Given the description of an element on the screen output the (x, y) to click on. 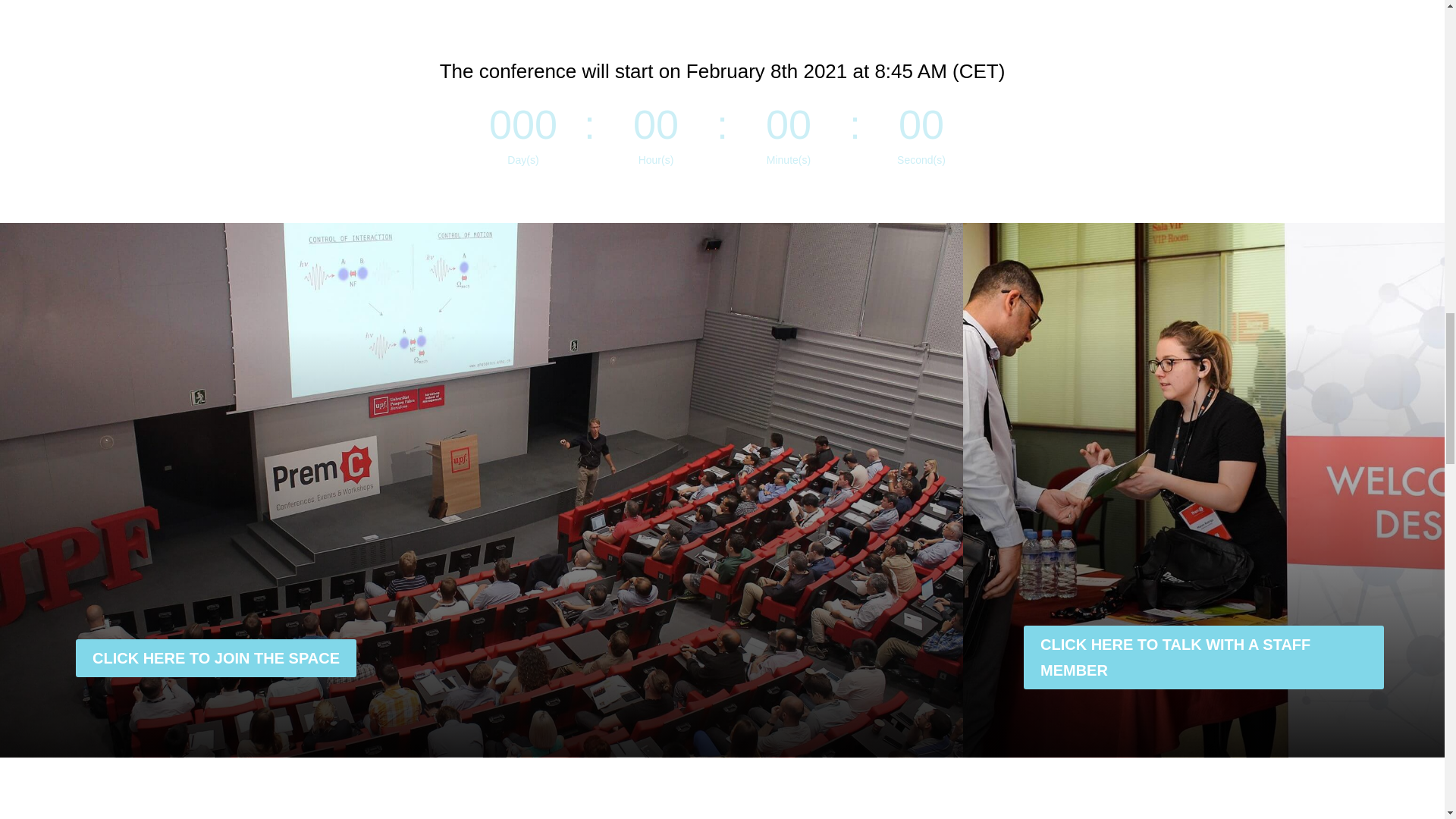
CLICK HERE TO JOIN THE SPACE (215, 658)
CLICK HERE TO TALK WITH A STAFF MEMBER (1203, 657)
